Given the description of an element on the screen output the (x, y) to click on. 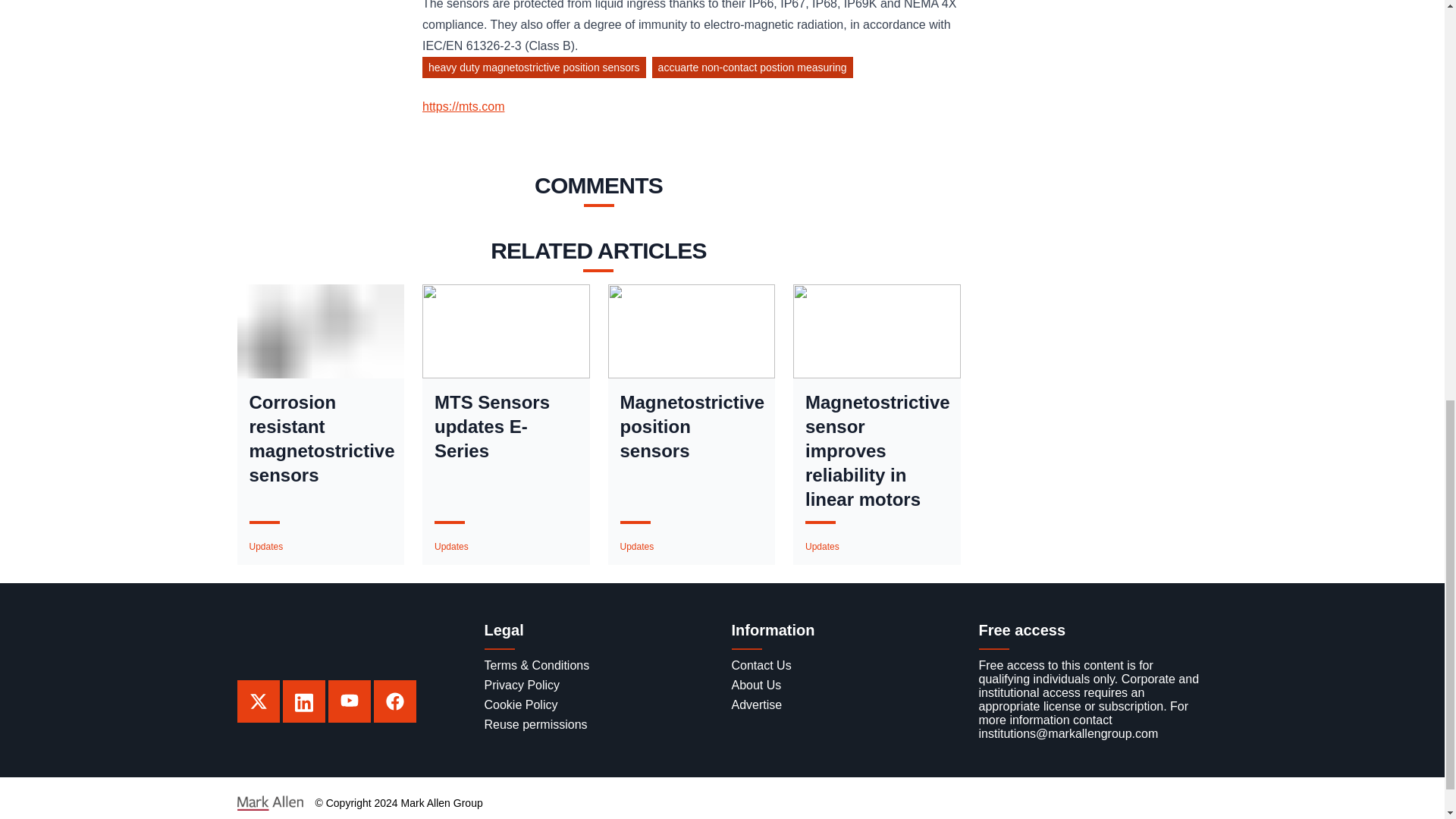
Magnetostrictive position sensors (691, 426)
Corrosion resistant magnetostrictive sensors (319, 438)
Updates (450, 546)
MTS Sensors updates E-Series (505, 426)
Updates (822, 546)
heavy duty magnetostrictive position sensors (537, 70)
Updates (265, 546)
accuarte non-contact postion measuring (755, 70)
Updates (636, 546)
